Given the description of an element on the screen output the (x, y) to click on. 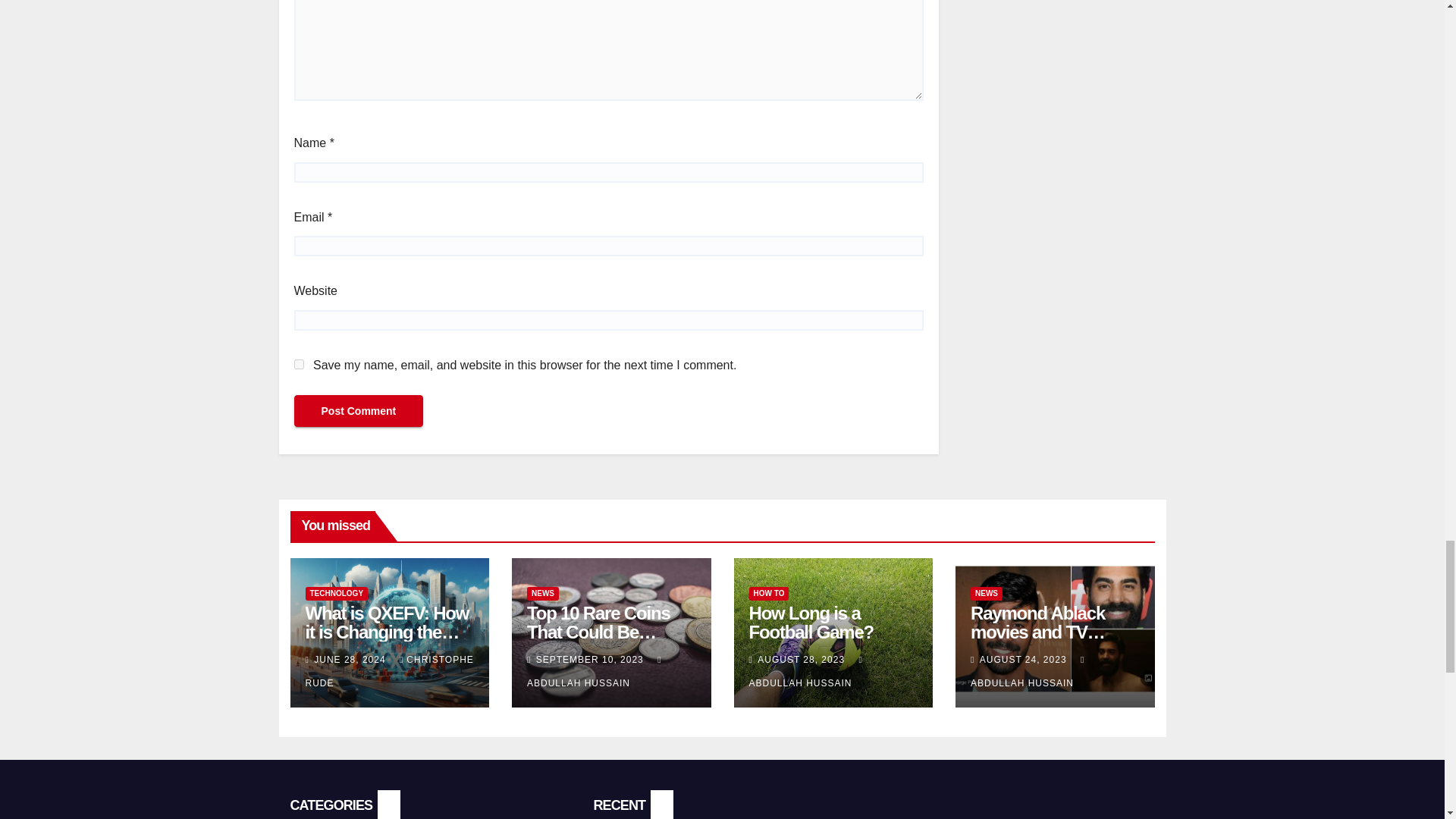
Permalink to: Raymond Ablack movies and TV shows (1038, 631)
yes (299, 364)
Post Comment (358, 410)
Permalink to: How Long is a Football Game? (812, 622)
